Given the description of an element on the screen output the (x, y) to click on. 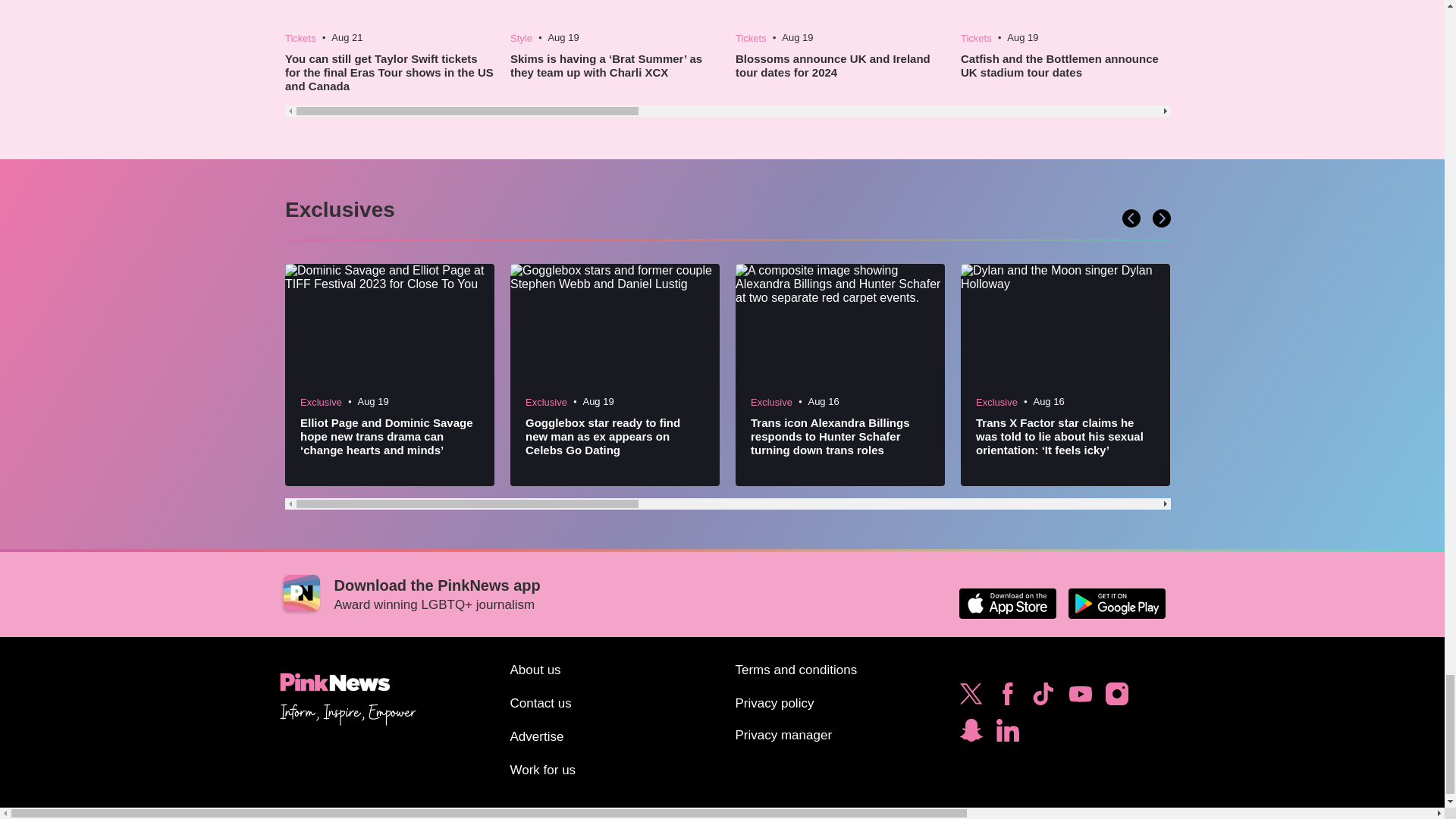
Follow PinkNews on Twitter (970, 697)
Subscribe to PinkNews on Snapchat (970, 733)
Download the PinkNews app on Google Play (1115, 603)
Download the PinkNews app on the Apple App Store (1006, 603)
Follow PinkNews on LinkedIn (1007, 733)
Subscribe to PinkNews on YouTube (1079, 697)
Follow PinkNews on TikTok (1042, 697)
Follow PinkNews on Instagram (1116, 697)
